Given the description of an element on the screen output the (x, y) to click on. 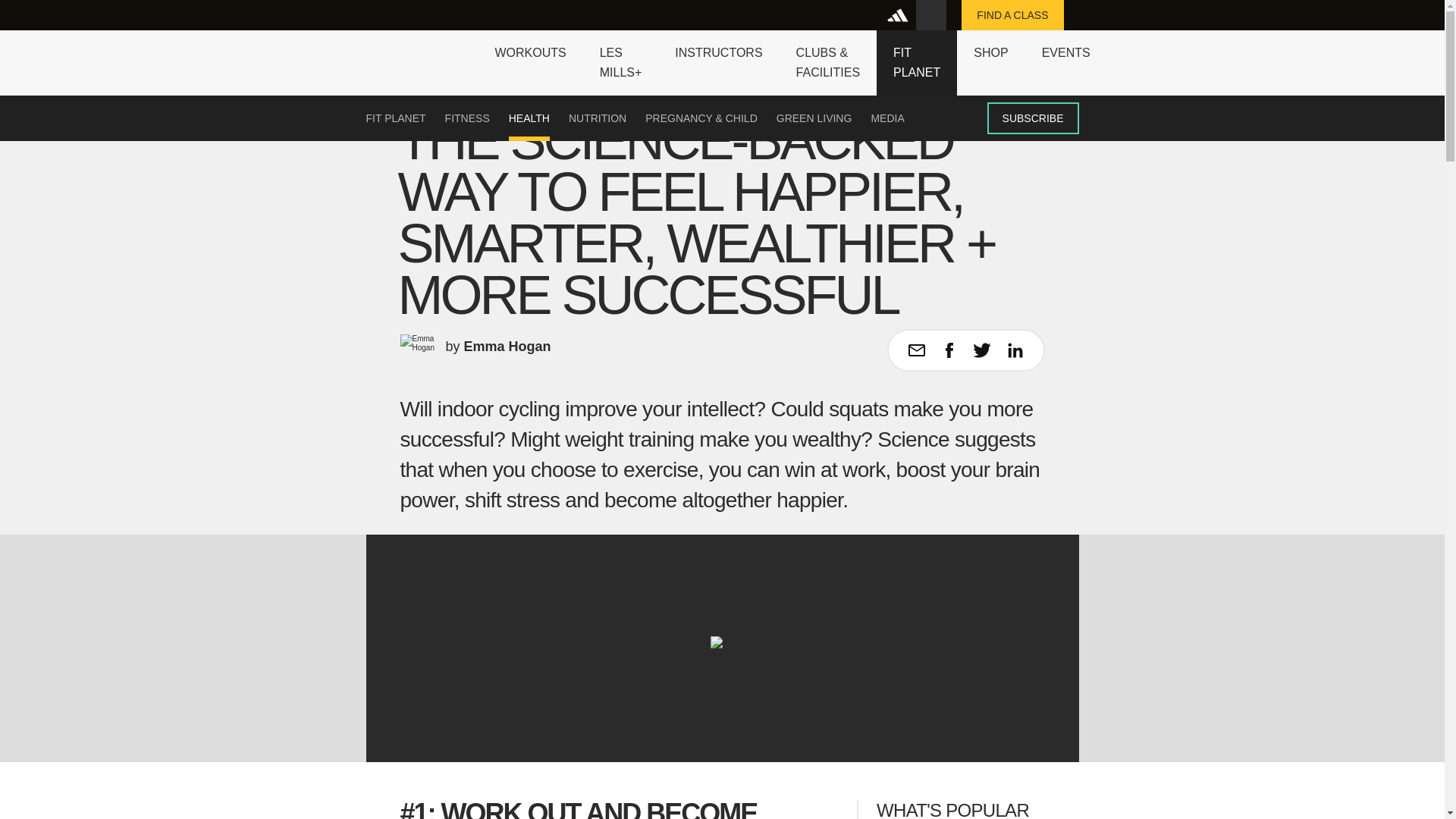
FIND A CLASS (1011, 15)
Les Mills Home (415, 52)
Adidas (900, 15)
